Given the description of an element on the screen output the (x, y) to click on. 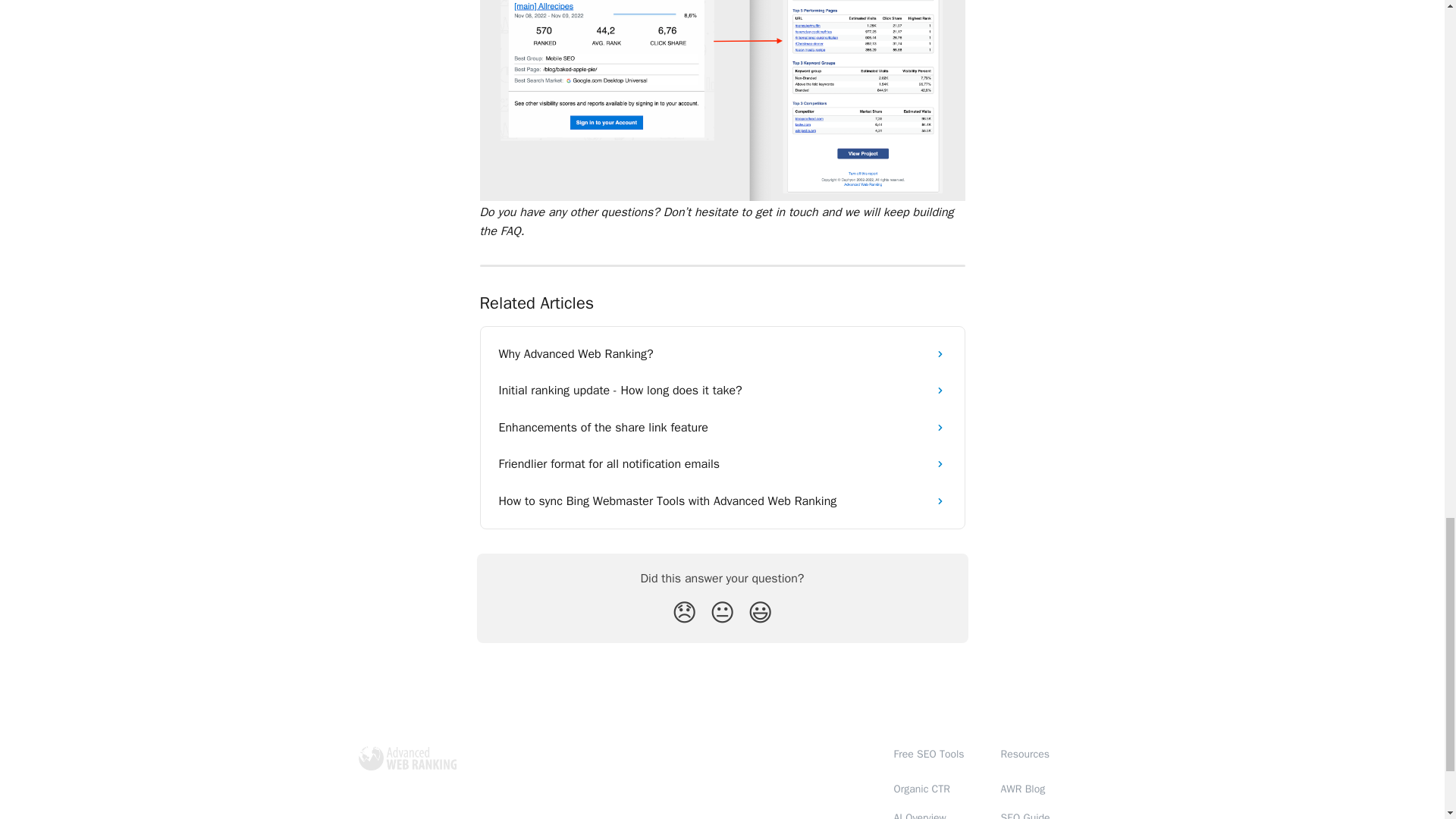
AWR Blog (1023, 788)
Initial ranking update - How long does it take? (722, 390)
AI Overview (918, 815)
Friendlier format for all notification emails (722, 463)
SEO Guide (1025, 815)
Enhancements of the share link feature (722, 427)
Why Advanced Web Ranking? (722, 353)
Organic CTR (921, 788)
How to sync Bing Webmaster Tools with Advanced Web Ranking (722, 501)
